Given the description of an element on the screen output the (x, y) to click on. 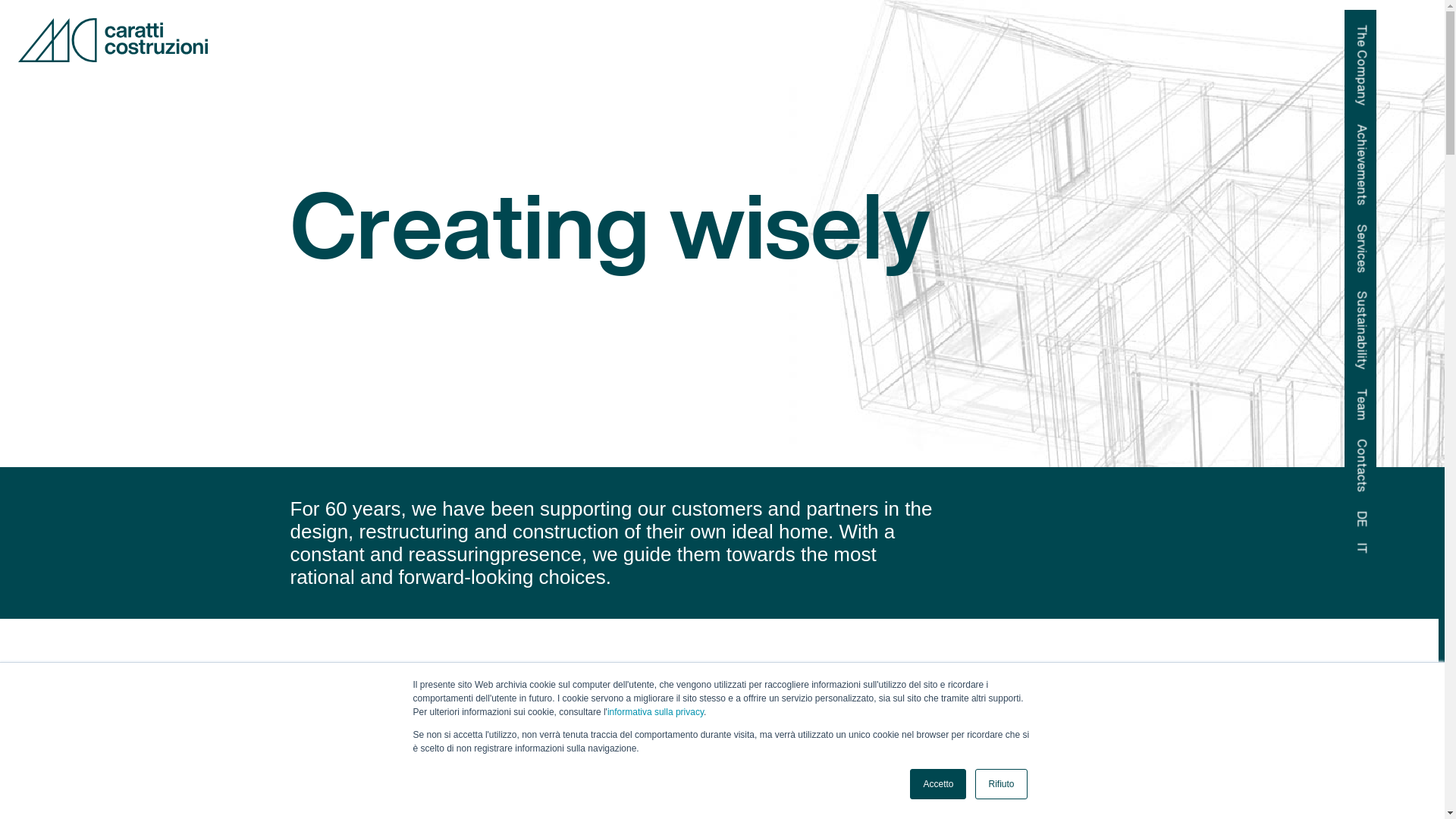
Accetto Element type: text (938, 783)
Achievements Element type: text (1393, 132)
The Company Element type: text (1393, 33)
informativa sulla privacy Element type: text (655, 711)
Team Element type: text (1368, 396)
DE Element type: text (1361, 518)
Rifiuto Element type: text (1000, 783)
Contacts Element type: text (1379, 447)
Services Element type: text (1376, 232)
IT Element type: text (1358, 550)
Sustainability Element type: text (1392, 299)
